Given the description of an element on the screen output the (x, y) to click on. 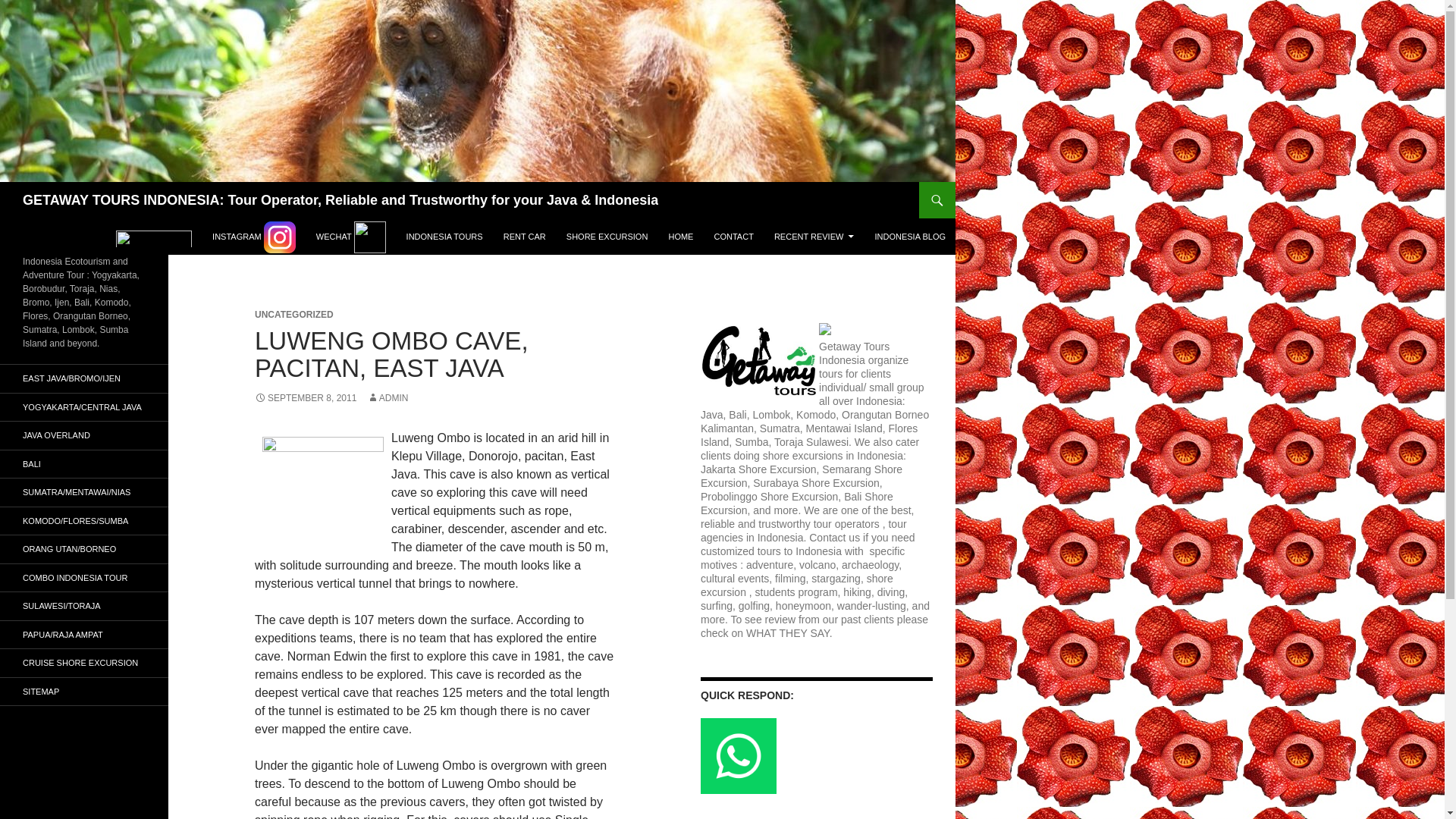
RENT CAR (524, 236)
INSTAGRAM (253, 236)
CRUISE SHORE EXCURSION (84, 663)
BALI (84, 464)
SEPTEMBER 8, 2011 (305, 398)
JAVA OVERLAND (84, 435)
WECHAT (350, 236)
CONTACT (733, 236)
RECENT REVIEW (814, 236)
ADMIN (387, 398)
HOME (680, 236)
COMBO INDONESIA TOUR (84, 578)
SHORE EXCURSION (607, 236)
